Given the description of an element on the screen output the (x, y) to click on. 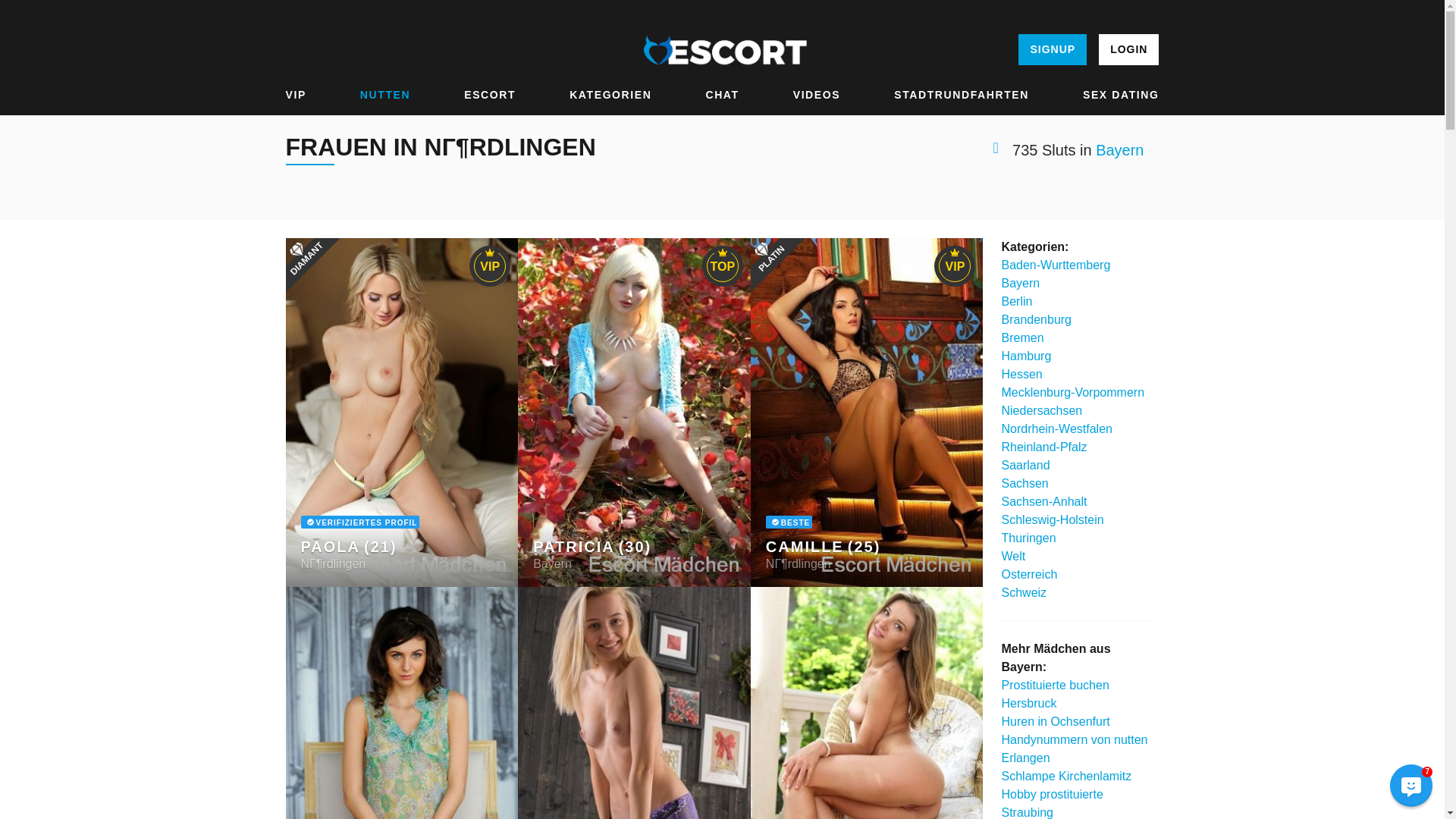
NUTTEN (384, 94)
Bayern (1119, 149)
LOGIN (1128, 49)
VIP (295, 94)
SIGNUP (1051, 49)
VIDEOS (817, 94)
SEX DATING (1120, 94)
KATEGORIEN (609, 94)
STADTRUNDFAHRTEN (961, 94)
ESCORT (489, 94)
CHAT (721, 94)
